Given the description of an element on the screen output the (x, y) to click on. 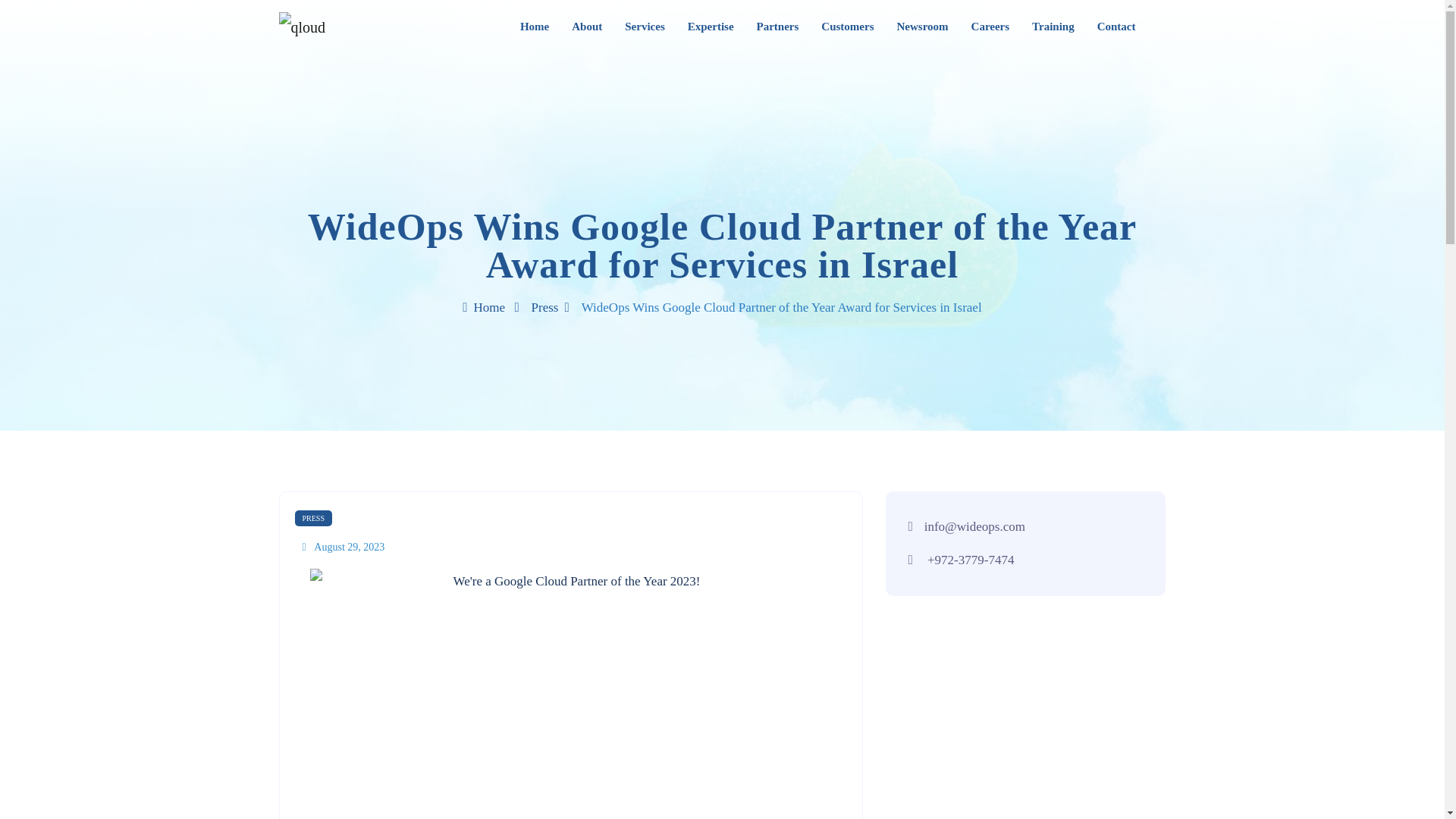
Customers (847, 26)
Home (533, 26)
Expertise (710, 26)
Partners (778, 26)
About (587, 26)
Services (643, 26)
Newsroom (922, 26)
